Given the description of an element on the screen output the (x, y) to click on. 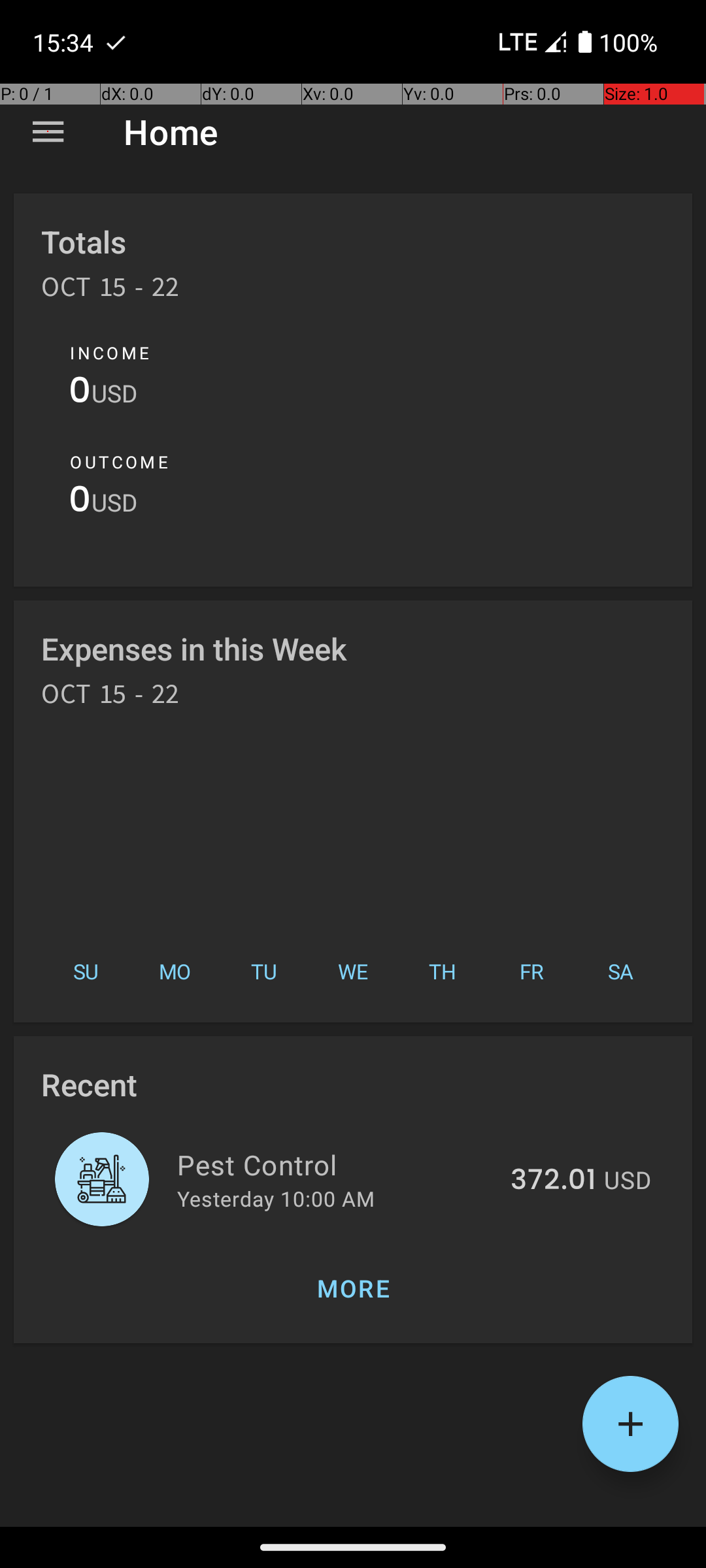
Pest Control Element type: android.widget.TextView (336, 1164)
Yesterday 10:00 AM Element type: android.widget.TextView (275, 1198)
372.01 Element type: android.widget.TextView (552, 1180)
